Given the description of an element on the screen output the (x, y) to click on. 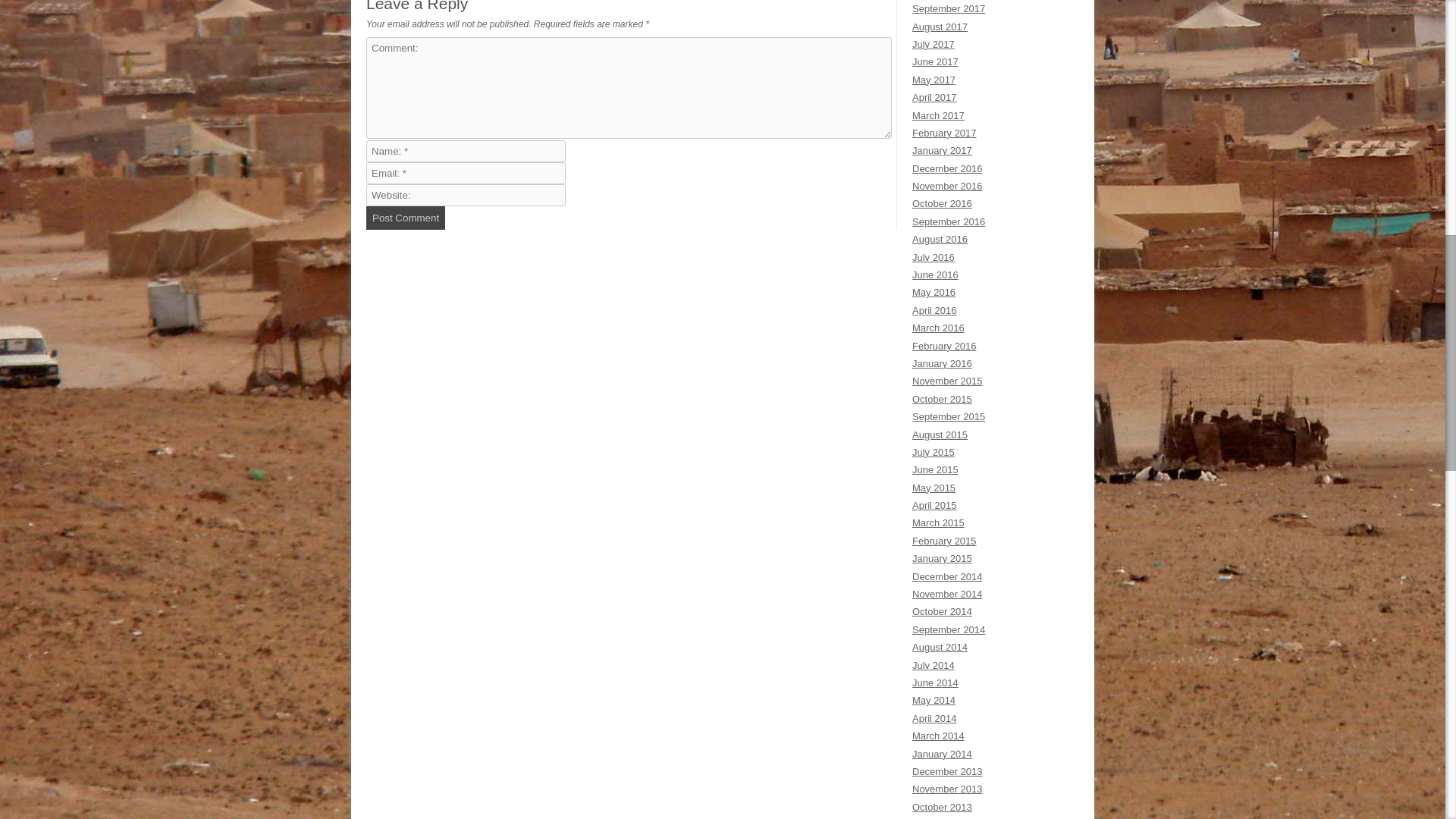
Post Comment (405, 218)
Post Comment (405, 218)
